Given the description of an element on the screen output the (x, y) to click on. 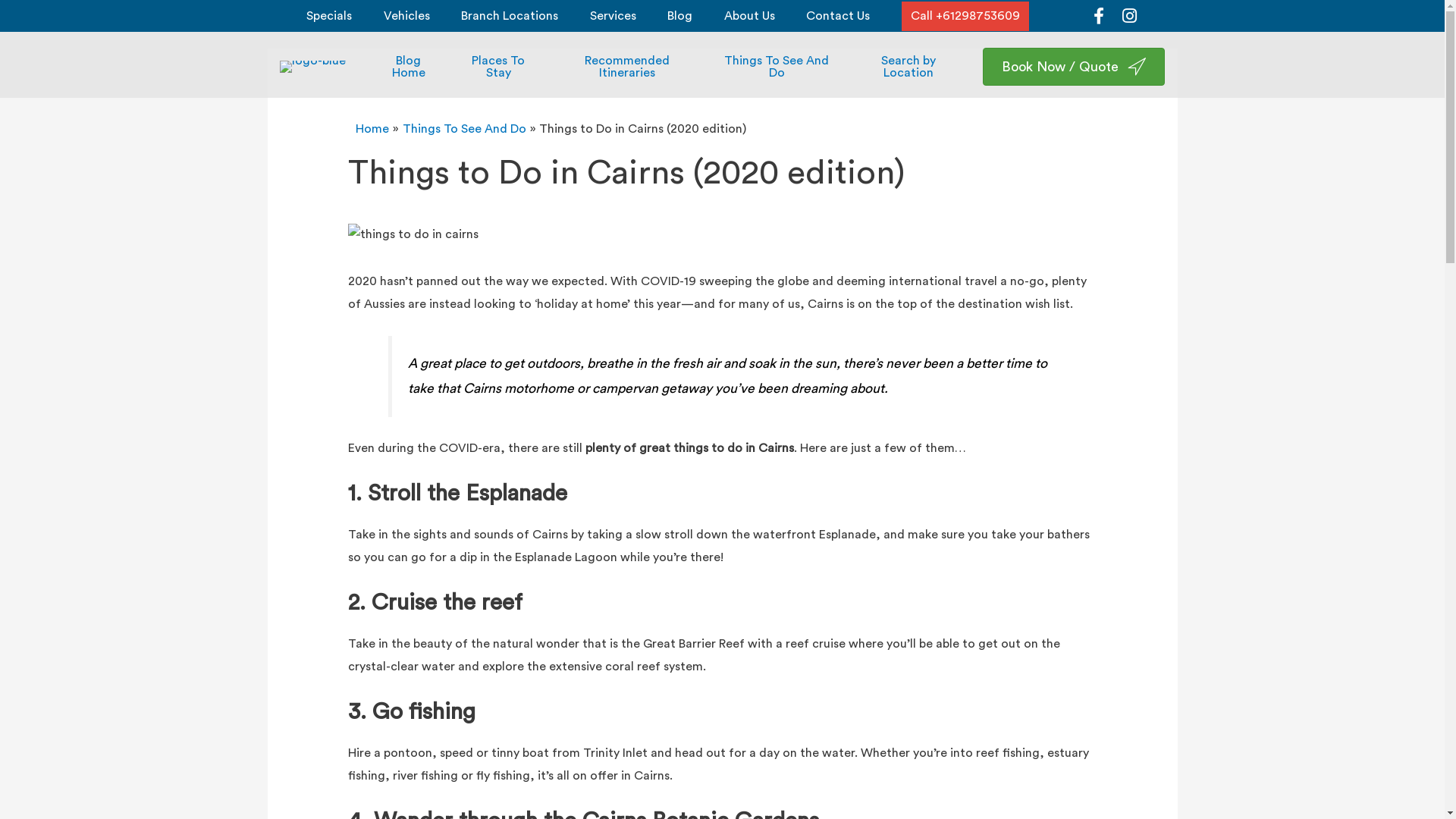
Things To See And Do Element type: text (776, 66)
Home Element type: text (372, 128)
Things To See And Do Element type: text (464, 128)
Call +61298753609 Element type: text (964, 15)
About Us Element type: text (748, 15)
Contact Us Element type: text (837, 15)
Recommended Itineraries Element type: text (626, 66)
Places To Stay Element type: text (498, 66)
Blog Element type: text (679, 15)
Services Element type: text (612, 15)
Vehicles Element type: text (406, 15)
Specials Element type: text (328, 15)
Blog Home Element type: text (408, 66)
logo-blue Element type: hover (312, 66)
Branch Locations Element type: text (509, 15)
Book Now / Quote Element type: text (1073, 65)
Search by Location Element type: text (908, 66)
